Given the description of an element on the screen output the (x, y) to click on. 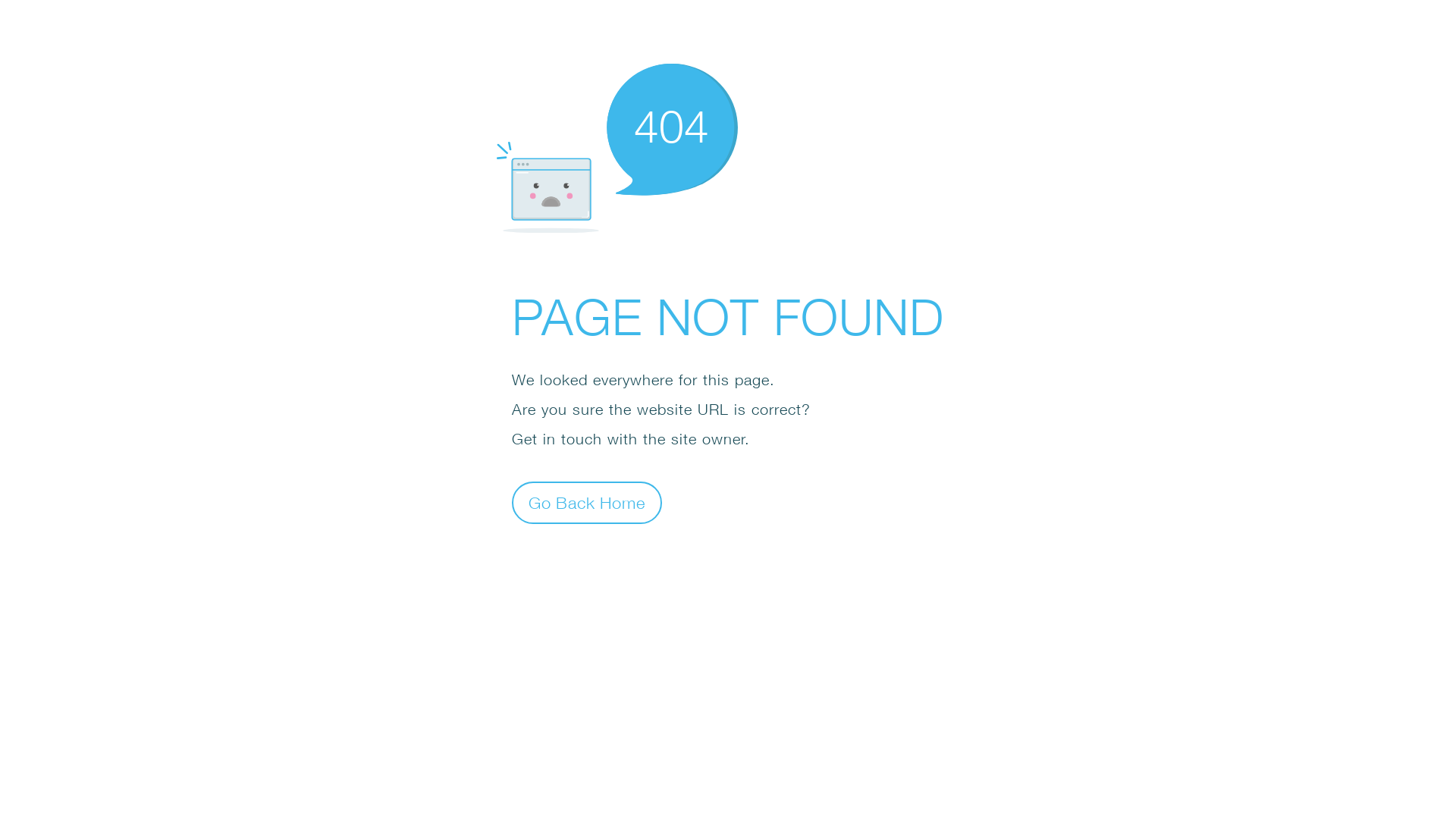
Go Back Home Element type: text (586, 502)
